Given the description of an element on the screen output the (x, y) to click on. 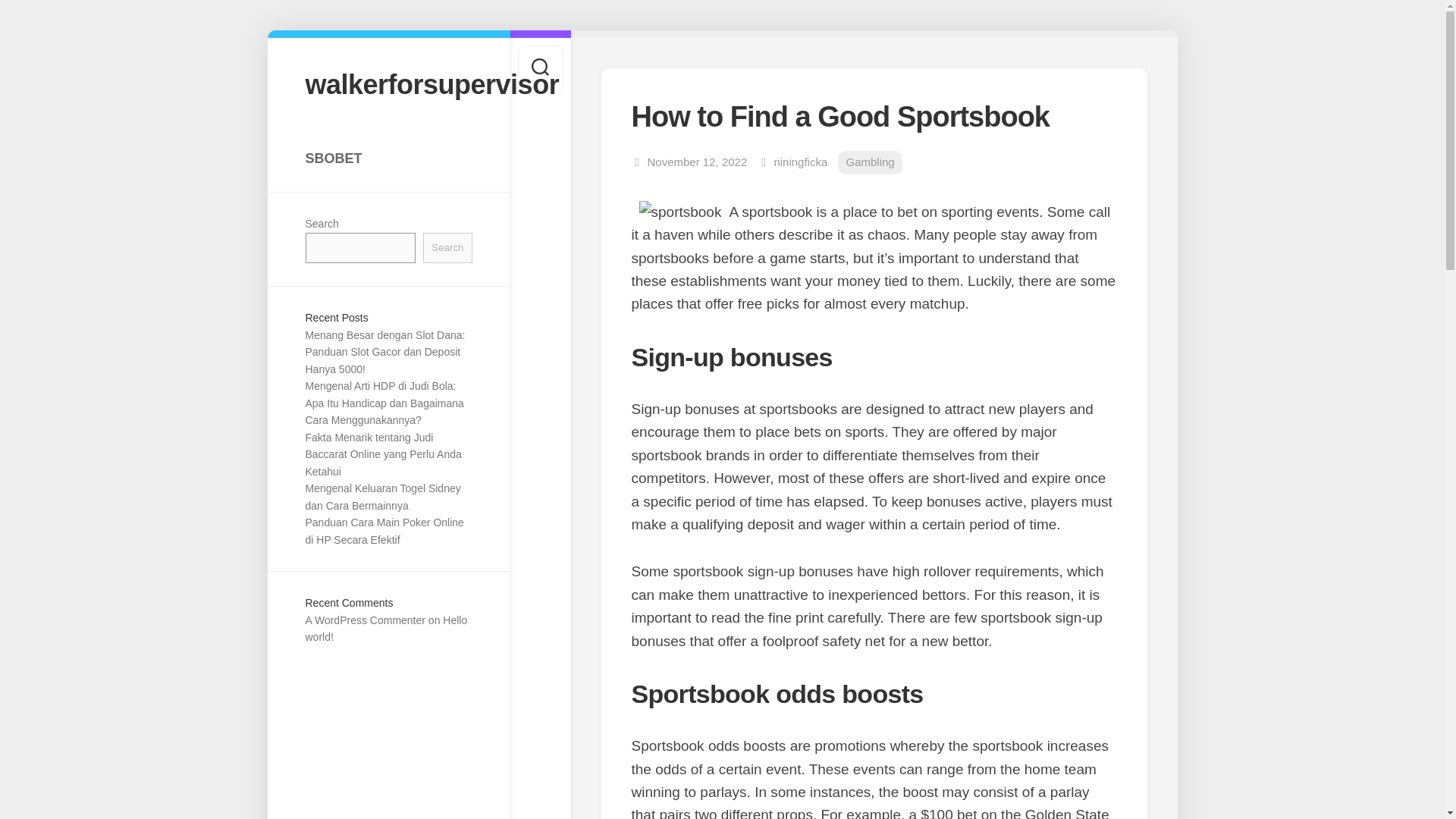
A WordPress Commenter (364, 620)
Hello world! (385, 628)
Mengenal Keluaran Togel Sidney dan Cara Bermainnya (382, 496)
SBOBET (387, 158)
Posts by niningficka (800, 161)
Gambling (869, 162)
Panduan Cara Main Poker Online di HP Secara Efektif (383, 531)
Search (447, 247)
